Given the description of an element on the screen output the (x, y) to click on. 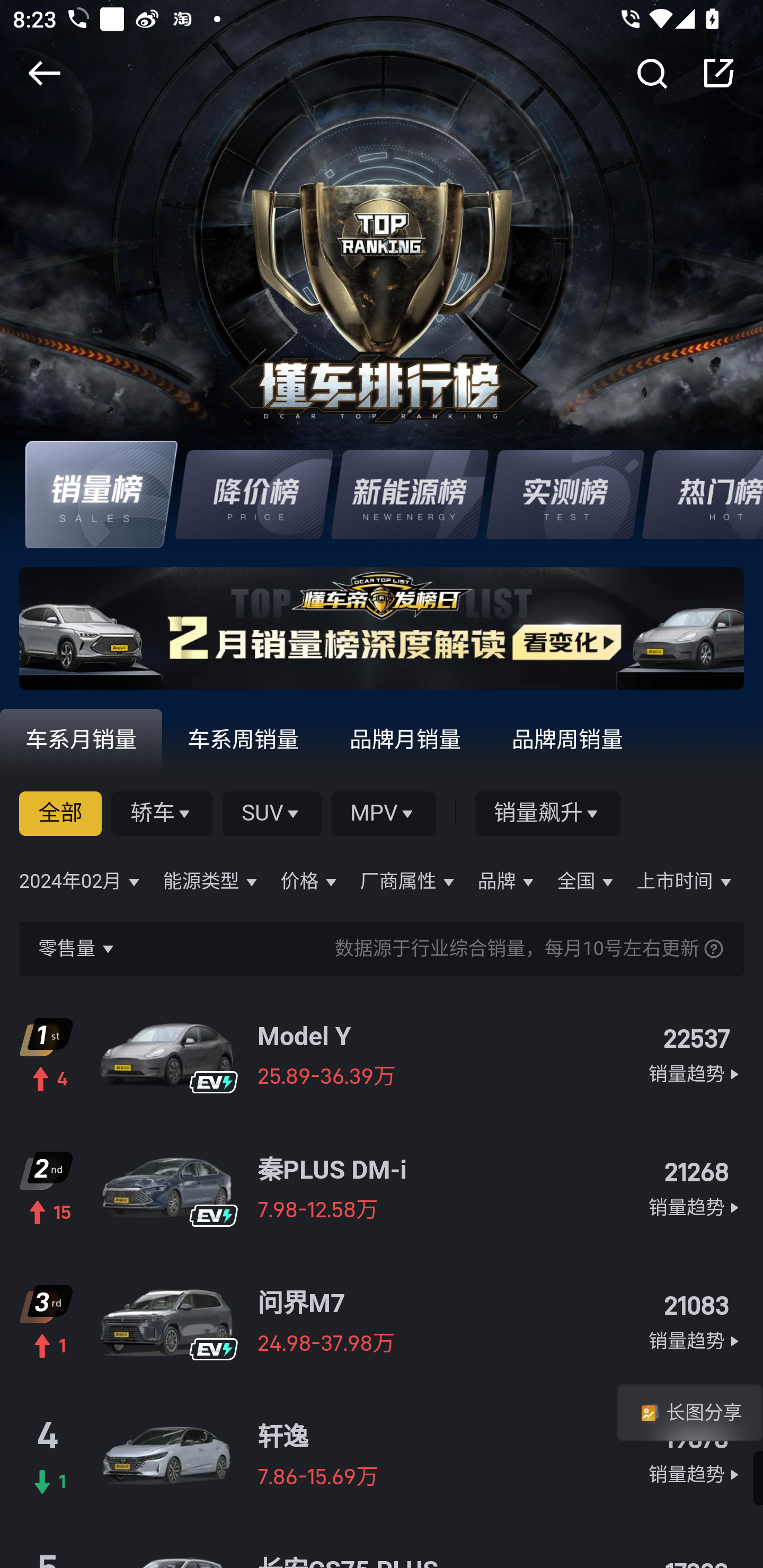
webview?url=https%3A%2F%2Fapi.dcarapi (381, 637)
车系月销量 (81, 738)
车系周销量 (243, 738)
品牌月销量 (405, 738)
品牌周销量 (567, 738)
全部 (61, 812)
轿车 (162, 812)
SUV (272, 812)
MPV (383, 812)
销量飙升 (547, 812)
2024年02月 (81, 880)
能源类型 (211, 880)
价格 (310, 880)
厂商属性 (409, 880)
品牌 (507, 880)
全国 (587, 880)
上市时间 (685, 880)
零售量 (78, 947)
数据源于行业综合销量，每月10号左右更新 (420, 947)
22537 销量趋势 (695, 1054)
21268 销量趋势 (695, 1188)
21083 销量趋势 (695, 1322)
长图分享 (688, 1412)
4 1 轩逸 7.86-15.69万 19878 销量趋势 (381, 1454)
19878 销量趋势 (695, 1455)
